Given the description of an element on the screen output the (x, y) to click on. 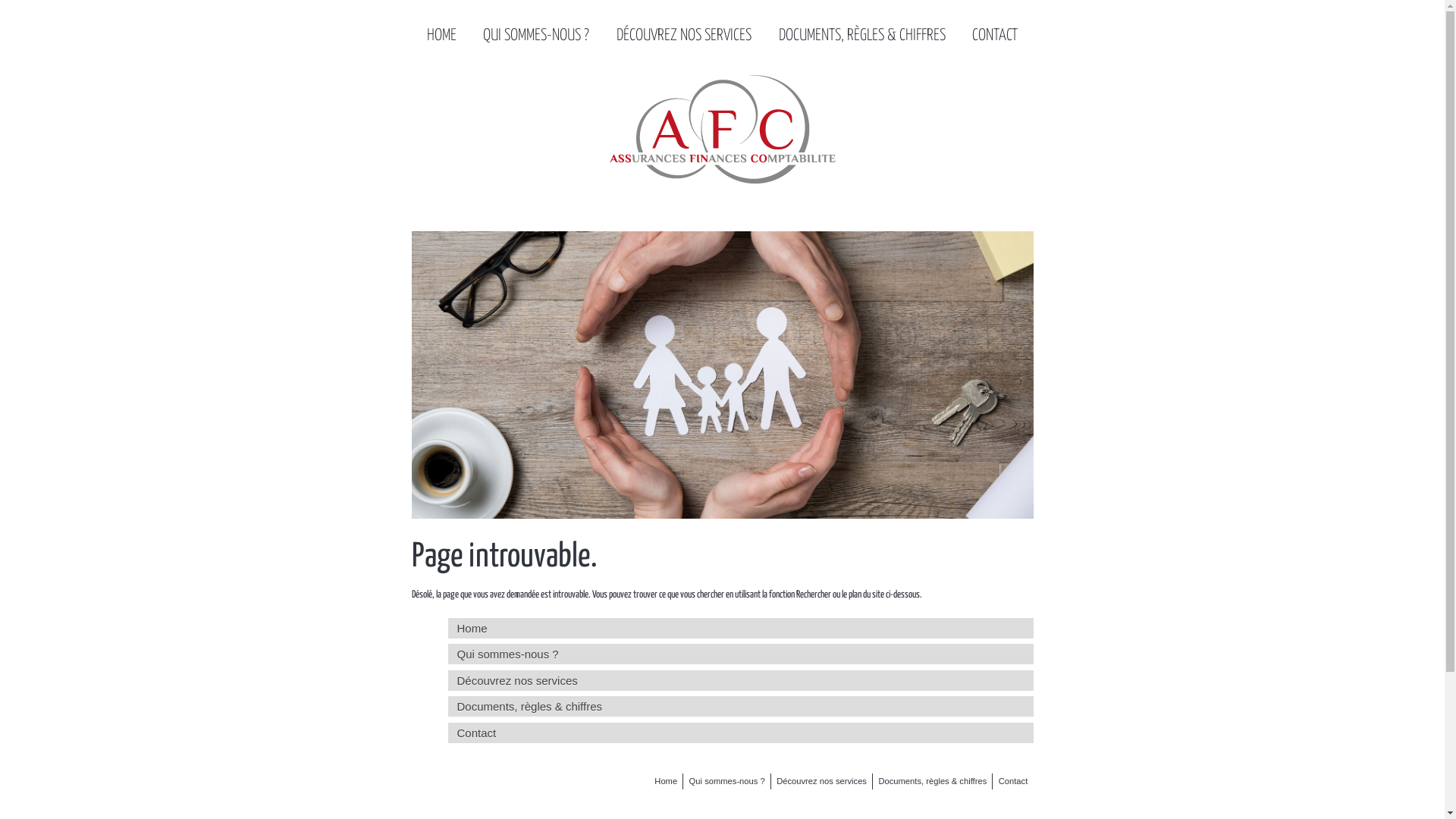
Qui sommes-nous ? Element type: text (726, 781)
QUI SOMMES-NOUS ? Element type: text (535, 26)
CONTACT Element type: text (994, 26)
HOME Element type: text (441, 26)
Home Element type: text (665, 781)
Contact Element type: text (739, 732)
Home Element type: text (739, 628)
Contact Element type: text (1013, 781)
Qui sommes-nous ? Element type: text (739, 653)
